Given the description of an element on the screen output the (x, y) to click on. 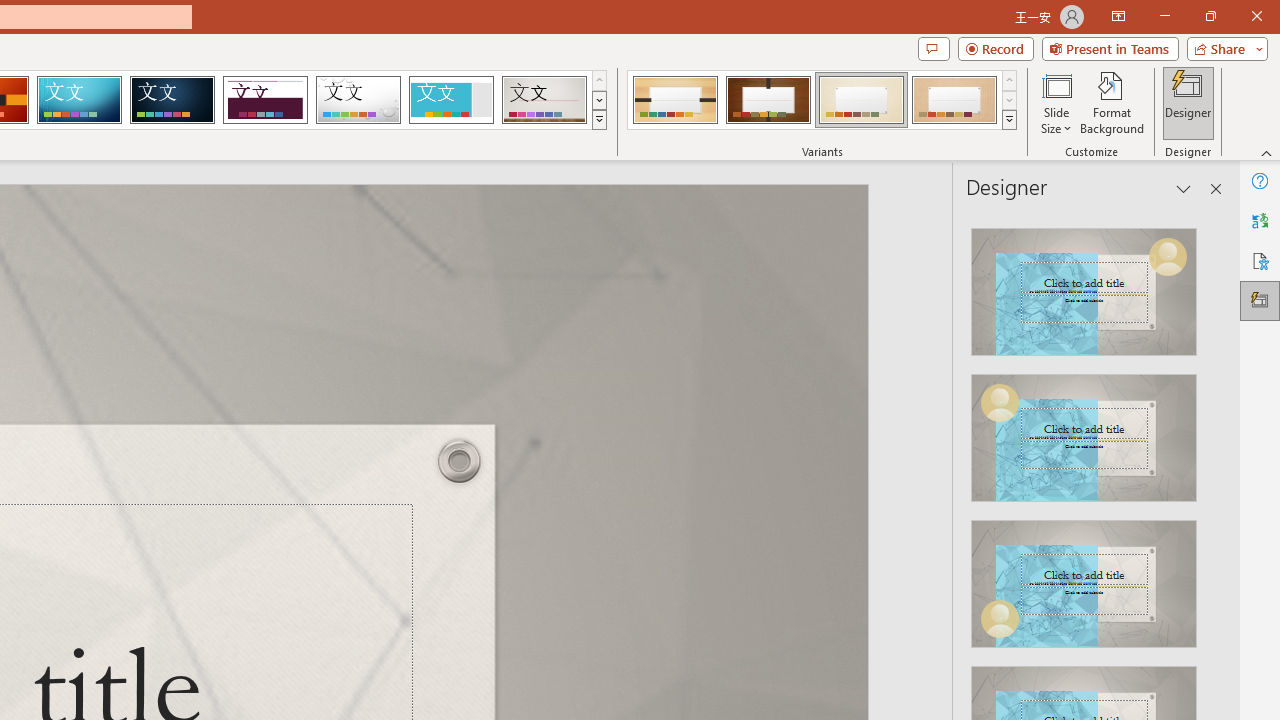
Designer (1188, 102)
Organic Variant 4 (953, 100)
Translator (1260, 220)
Droplet (358, 100)
Organic Variant 2 (768, 100)
Class: NetUIImage (1009, 119)
Damask (171, 100)
Circuit (79, 100)
Accessibility (1260, 260)
Designer (1260, 300)
AutomationID: ThemeVariantsGallery (822, 99)
